Given the description of an element on the screen output the (x, y) to click on. 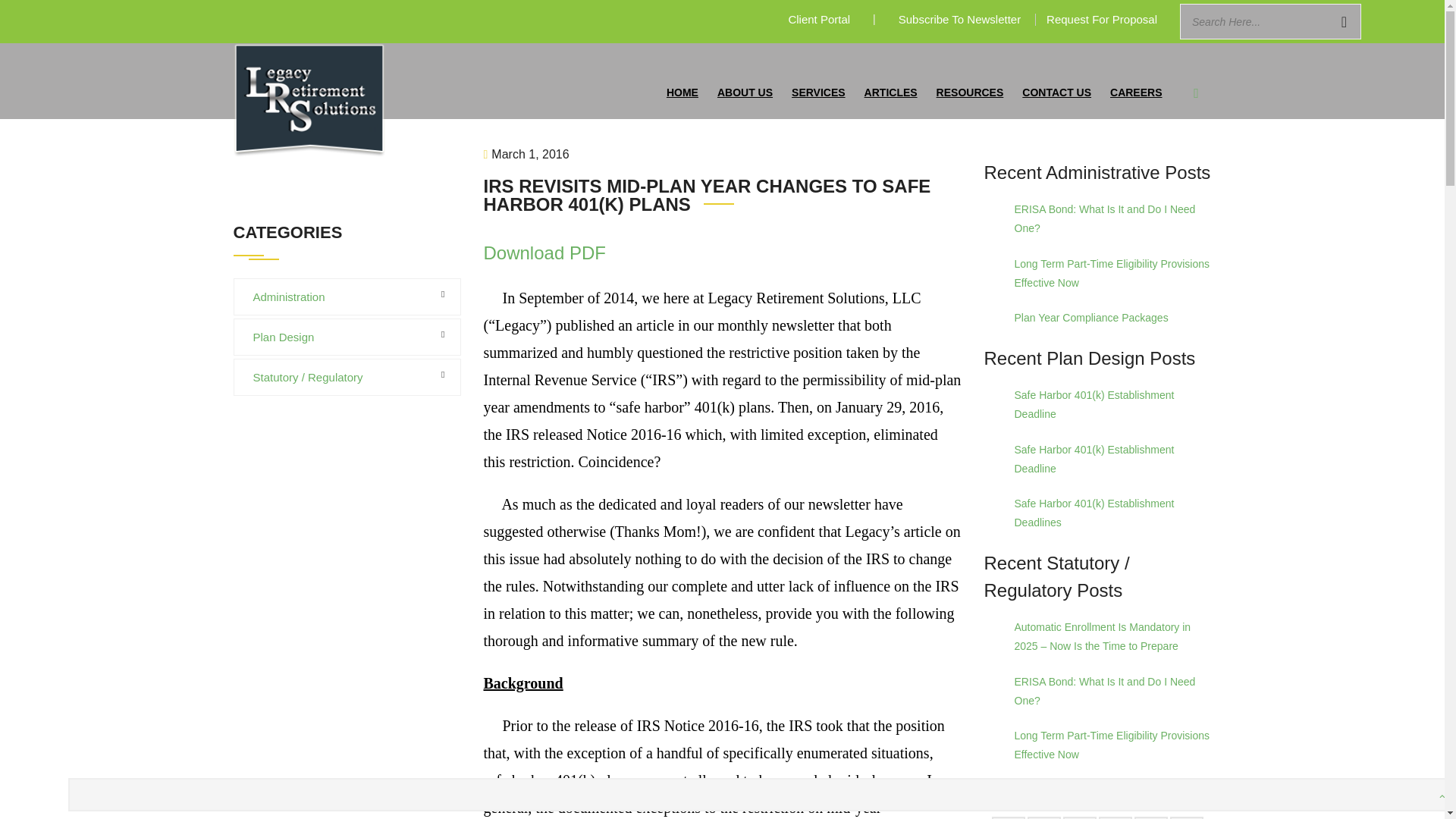
Subscribe To Newsletter (959, 19)
Request For Proposal (1101, 19)
ARTICLES (892, 80)
Administration (370, 67)
Client Portal (818, 19)
Plan Year Compliance Packages (1112, 317)
CAREERS (1137, 80)
RESOURCES (971, 80)
Long Term Part-Time Eligibility Provisions Effective Now (1112, 273)
Plan Design (281, 336)
Administration (370, 67)
SERVICES (820, 80)
ABOUT US (747, 80)
Download PDF (544, 252)
